Given the description of an element on the screen output the (x, y) to click on. 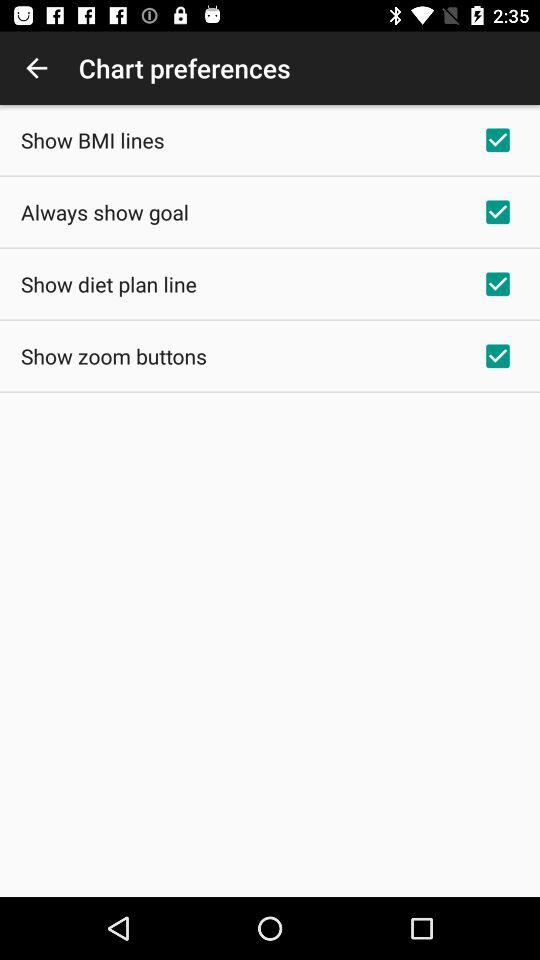
open the app to the left of chart preferences app (36, 68)
